Given the description of an element on the screen output the (x, y) to click on. 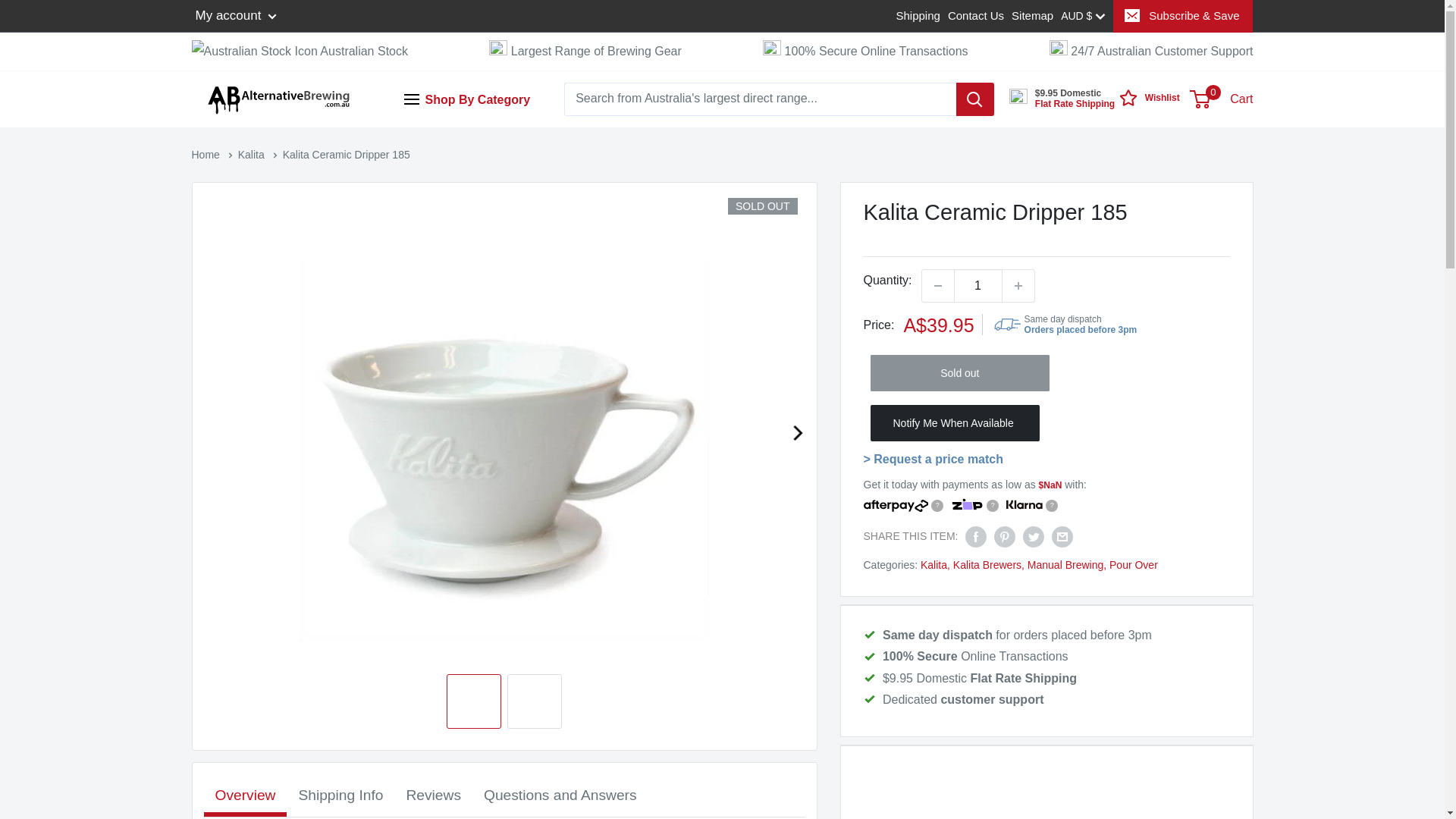
NZD (1103, 84)
USD (1103, 128)
My account (236, 15)
Contact Us (975, 15)
Search (249, 22)
Increase quantity by 1 (1018, 286)
EUR (1103, 105)
Kalita (252, 154)
Shipping (918, 15)
Decrease quantity by 1 (937, 286)
GBP (1103, 171)
SGD (1103, 215)
1 (978, 286)
IDR (1103, 192)
SAR (1103, 150)
